Given the description of an element on the screen output the (x, y) to click on. 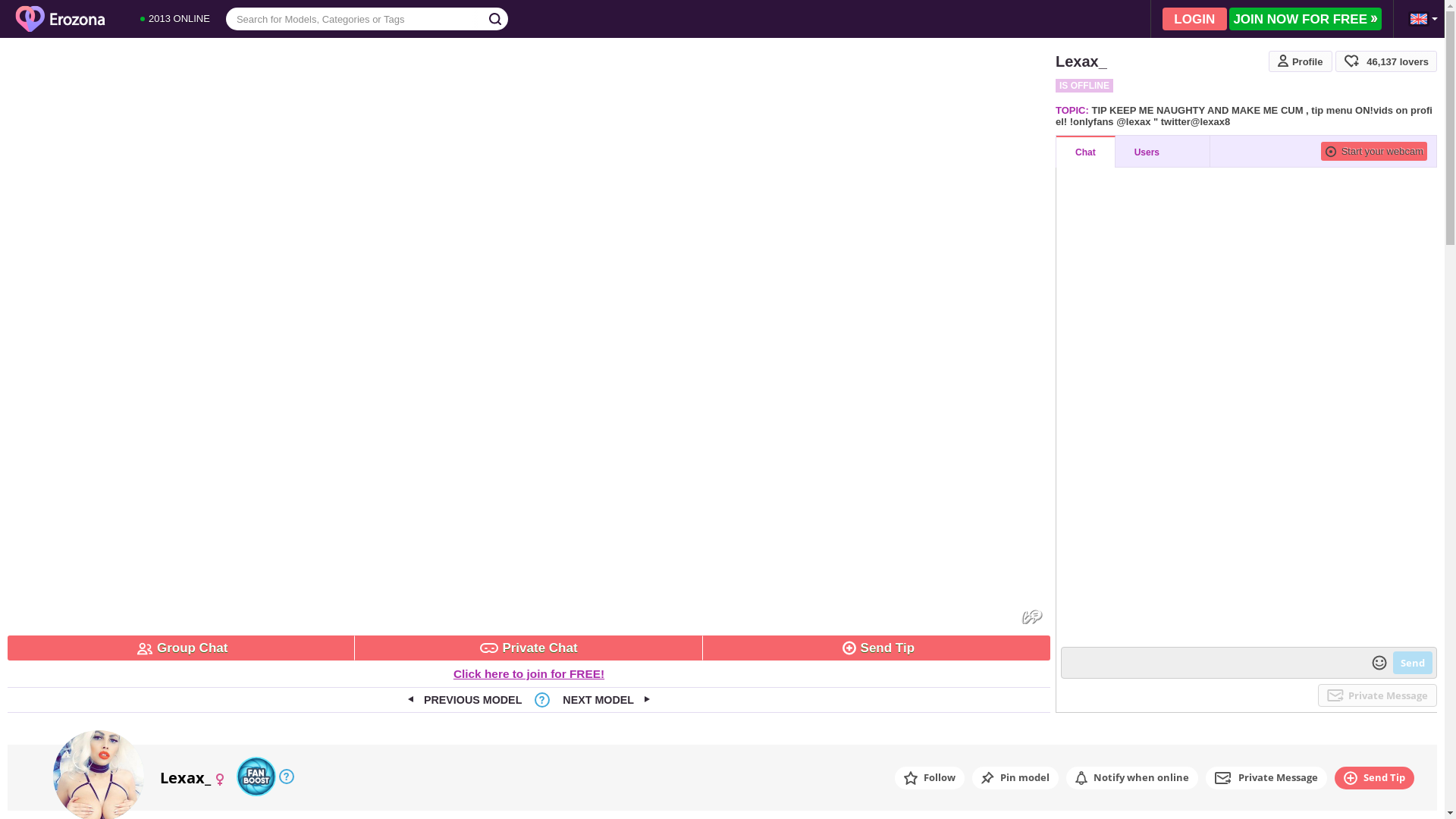
Click here to join for FREE! Element type: text (528, 673)
Group Chat Element type: text (180, 647)
NEXT MODEL Element type: text (605, 699)
Start your webcam Element type: text (1374, 150)
Chat Element type: text (1085, 152)
Private Message Element type: text (1377, 695)
LOGIN Element type: text (1194, 18)
Send Element type: text (1412, 662)
Profile Element type: text (1300, 61)
Private Chat Element type: text (528, 647)
JOIN NOW FOR FREE Element type: text (1305, 18)
46,137 lovers Element type: text (1386, 61)
Users Element type: text (1162, 152)
Send Tip Element type: text (876, 647)
PREVIOUS MODEL Element type: text (464, 699)
